Given the description of an element on the screen output the (x, y) to click on. 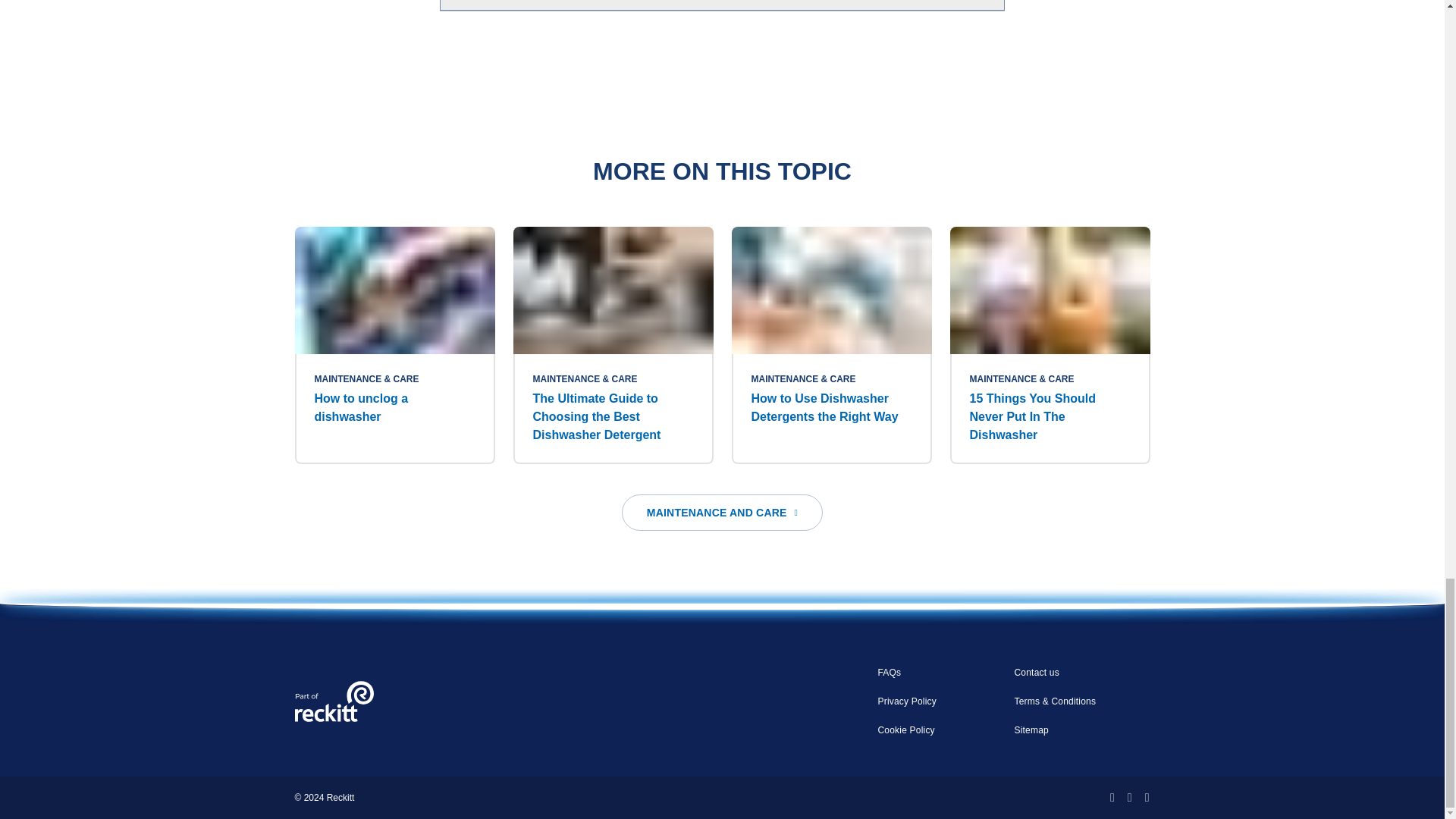
Contact us (1036, 672)
MAINTENANCE AND CARE (721, 512)
FAQs (888, 672)
